Given the description of an element on the screen output the (x, y) to click on. 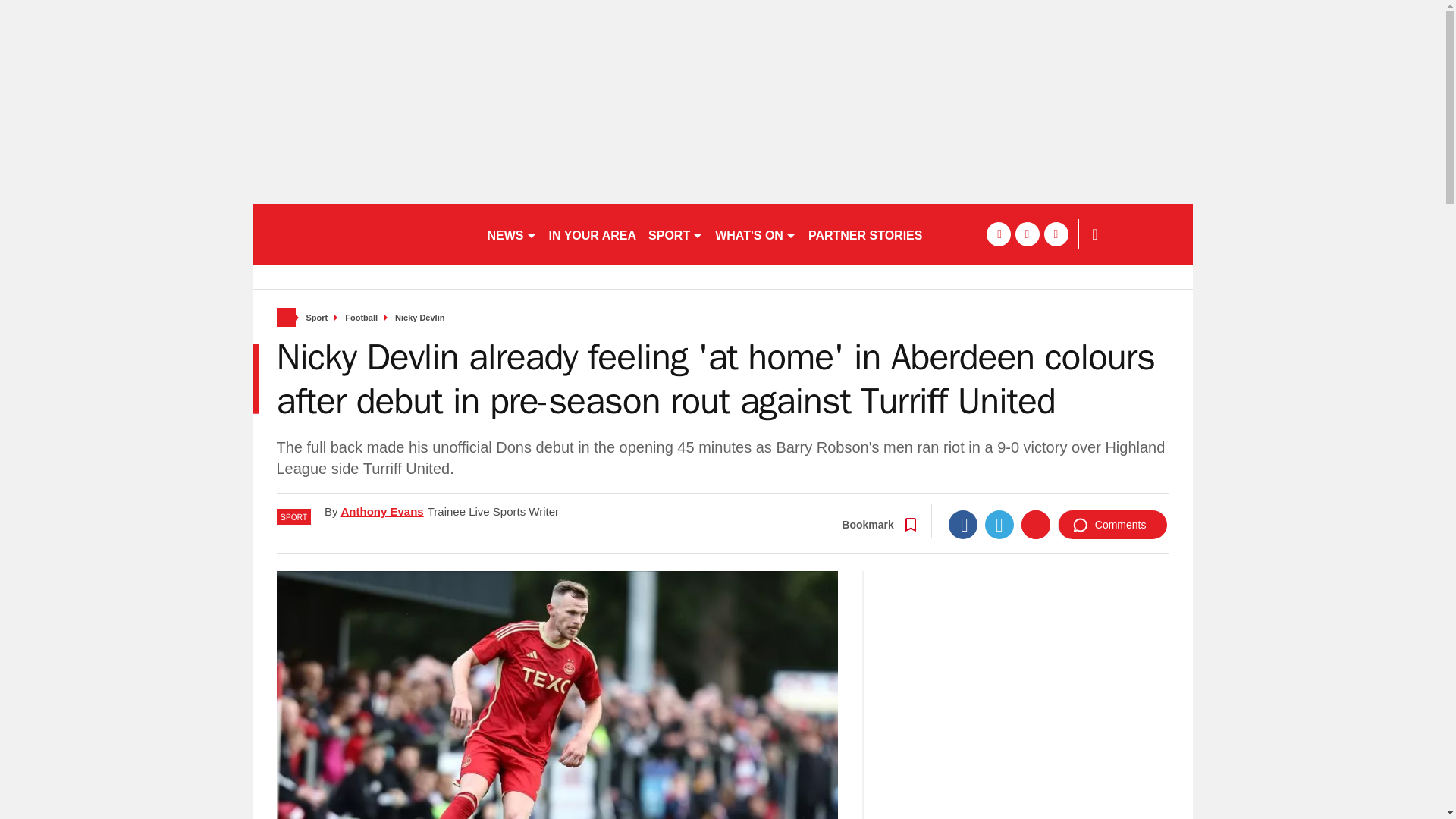
Facebook (962, 524)
PARTNER STORIES (865, 233)
twitter (1026, 233)
NEWS (510, 233)
Twitter (999, 524)
WHAT'S ON (755, 233)
facebook (997, 233)
instagram (1055, 233)
aberdeenlive (362, 233)
IN YOUR AREA (593, 233)
Comments (1112, 524)
SPORT (675, 233)
